Given the description of an element on the screen output the (x, y) to click on. 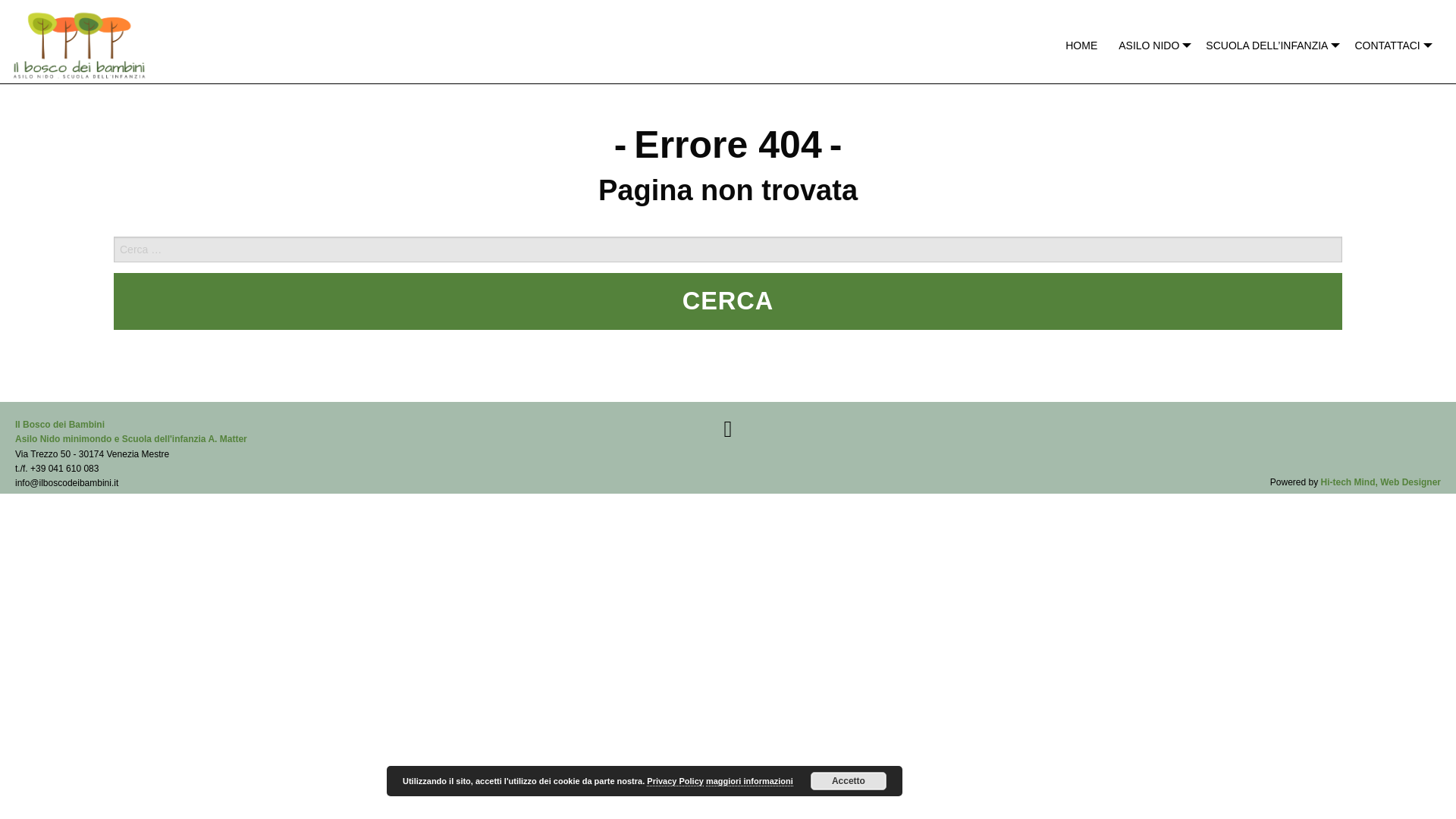
Il Bosco Dei Bmbini (130, 431)
Cerca (727, 301)
Il Bosco Dei bambini (79, 40)
Cerca (727, 301)
Privacy Policy (674, 781)
CONTATTACI (1389, 45)
HOME (1081, 45)
ASILO NIDO (1151, 45)
Privacy Policy (674, 781)
Hi-tech Mind, Web Designer (1380, 481)
Cerca (727, 301)
Hi-tech Mind, Web Designer (1380, 481)
